Given the description of an element on the screen output the (x, y) to click on. 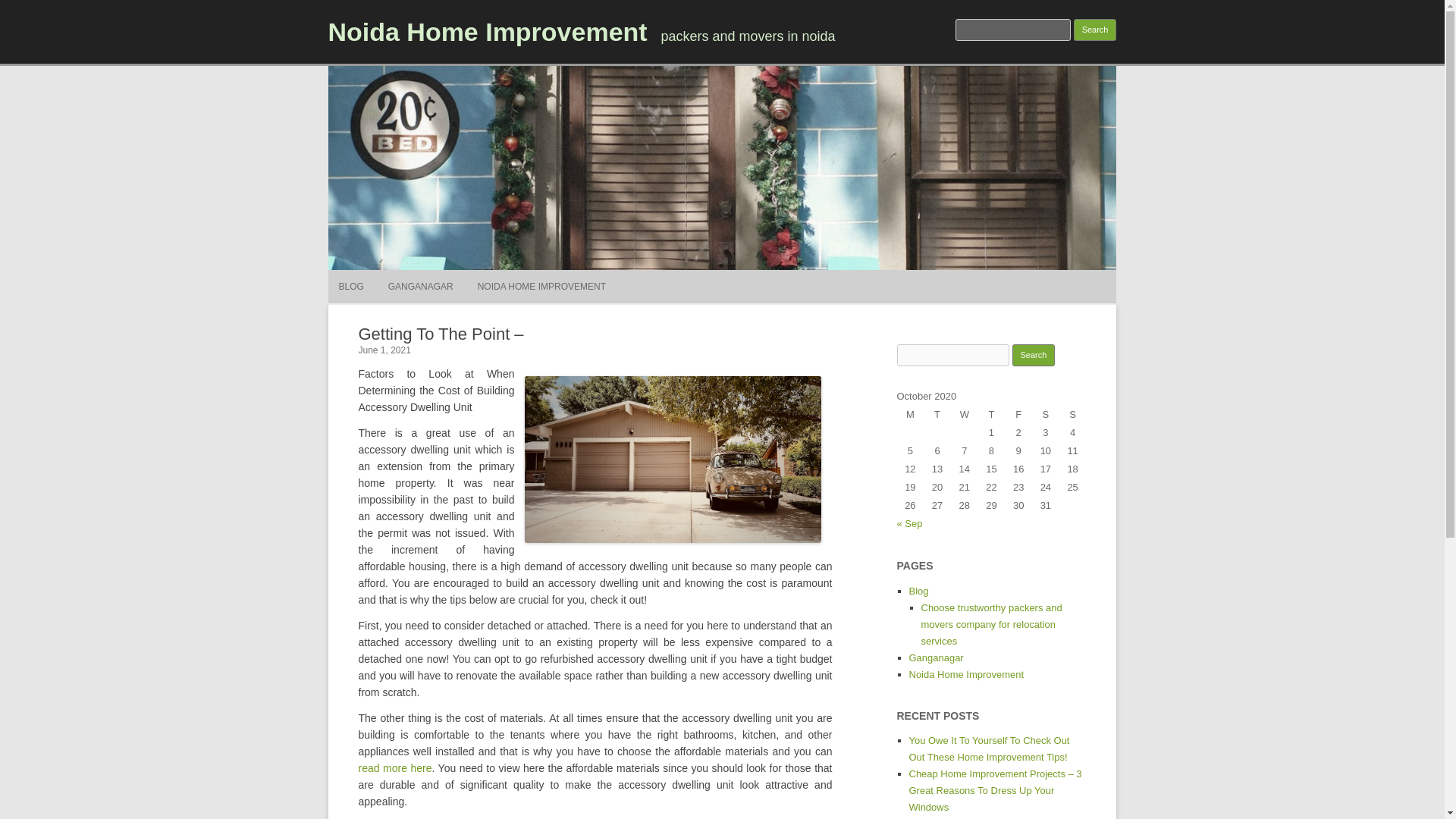
GANGANAGAR (420, 286)
Thursday (992, 414)
Skip to content (757, 275)
Saturday (1045, 414)
Search (1033, 354)
Ganganagar (935, 657)
Wednesday (964, 414)
Friday (1018, 414)
